Given the description of an element on the screen output the (x, y) to click on. 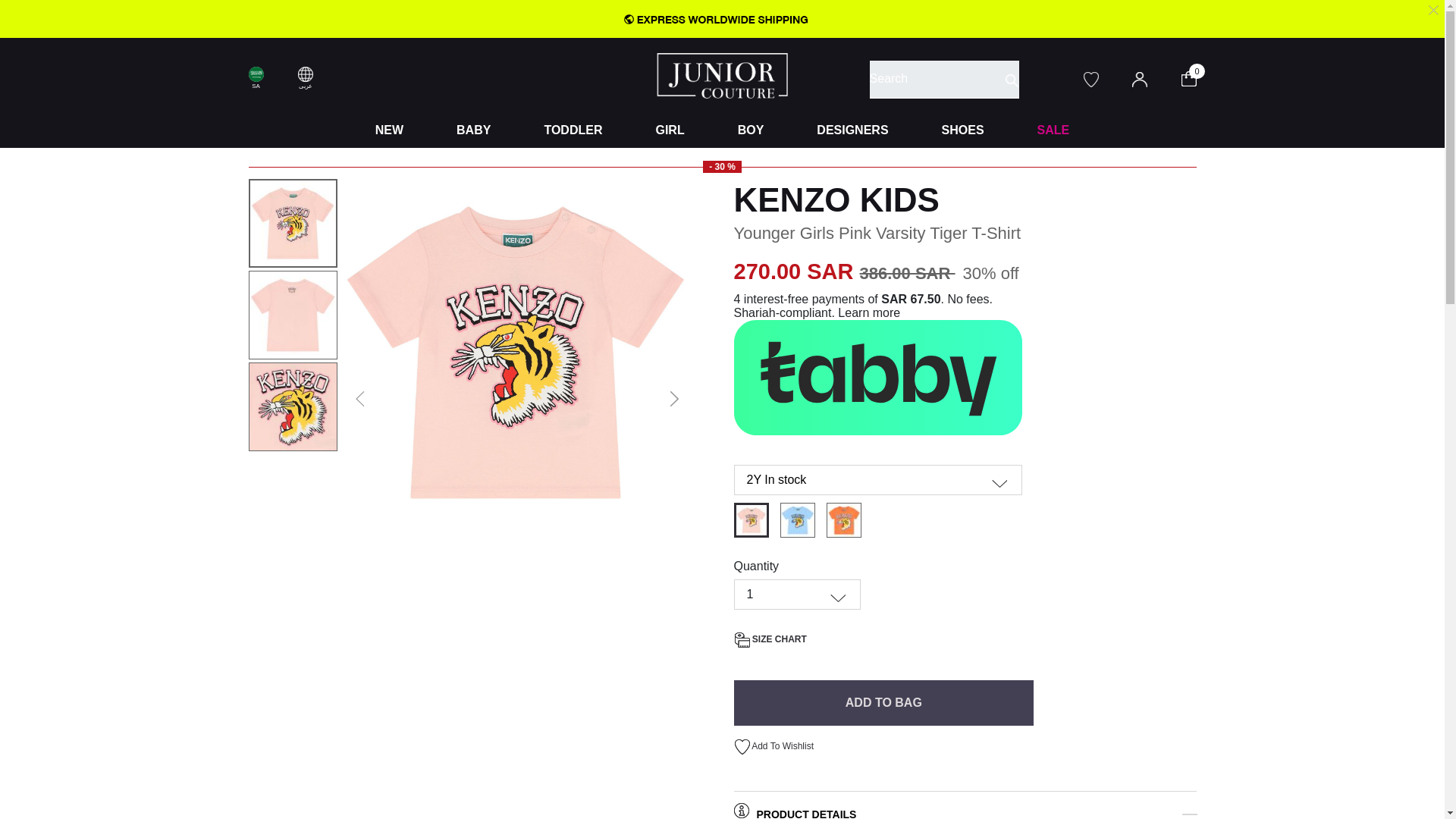
0 (1197, 77)
Juniour Couture Home (721, 74)
Cart 0 Items (1197, 77)
